Given the description of an element on the screen output the (x, y) to click on. 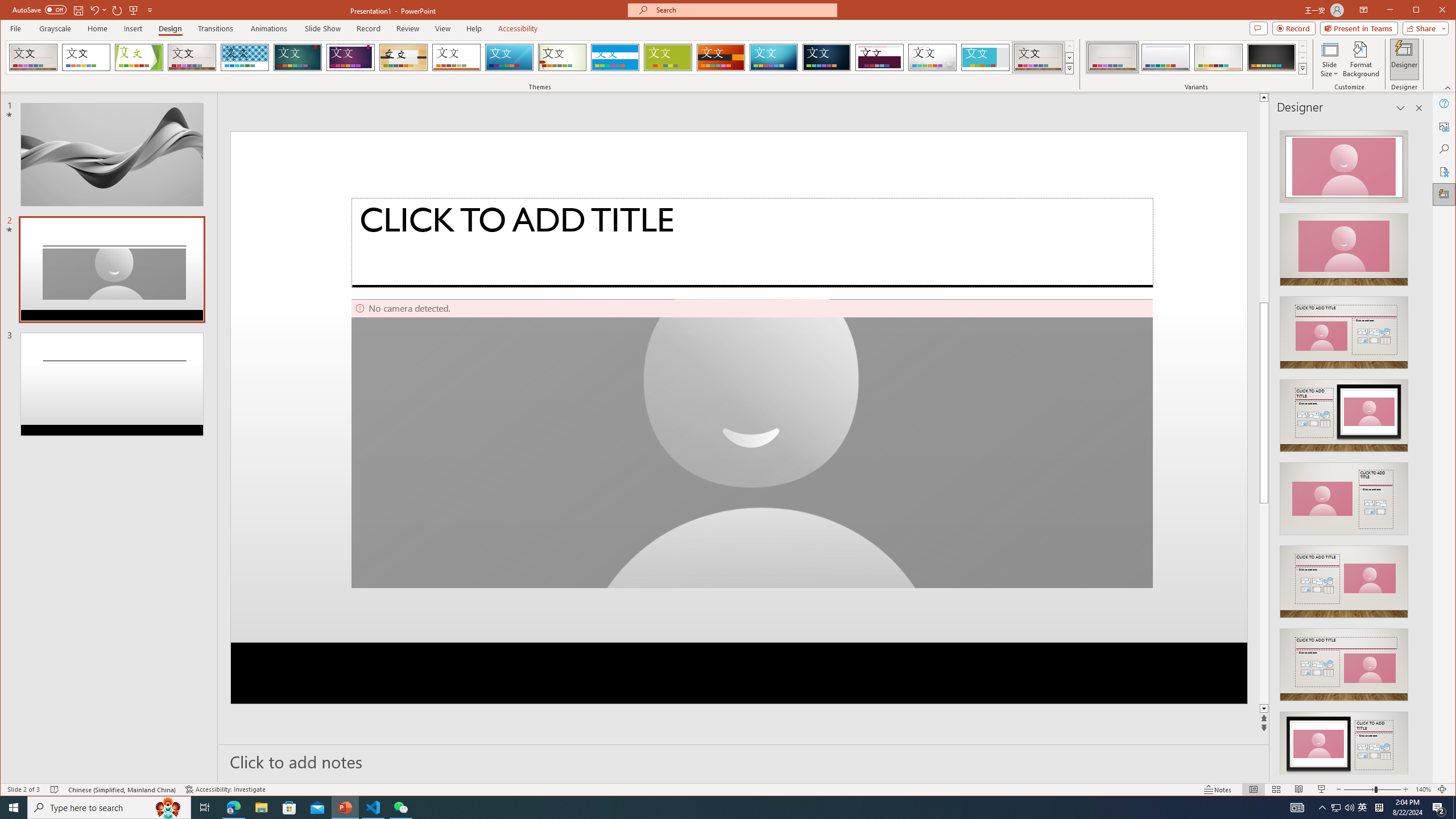
Gallery Variant 3 (1218, 57)
Notification Chevron (1322, 807)
Gallery Variant 1 (1112, 57)
Start (13, 807)
Dividend (879, 57)
Zoom 140% (1422, 789)
Alt Text (1444, 125)
AutomationID: 4105 (1297, 807)
